Given the description of an element on the screen output the (x, y) to click on. 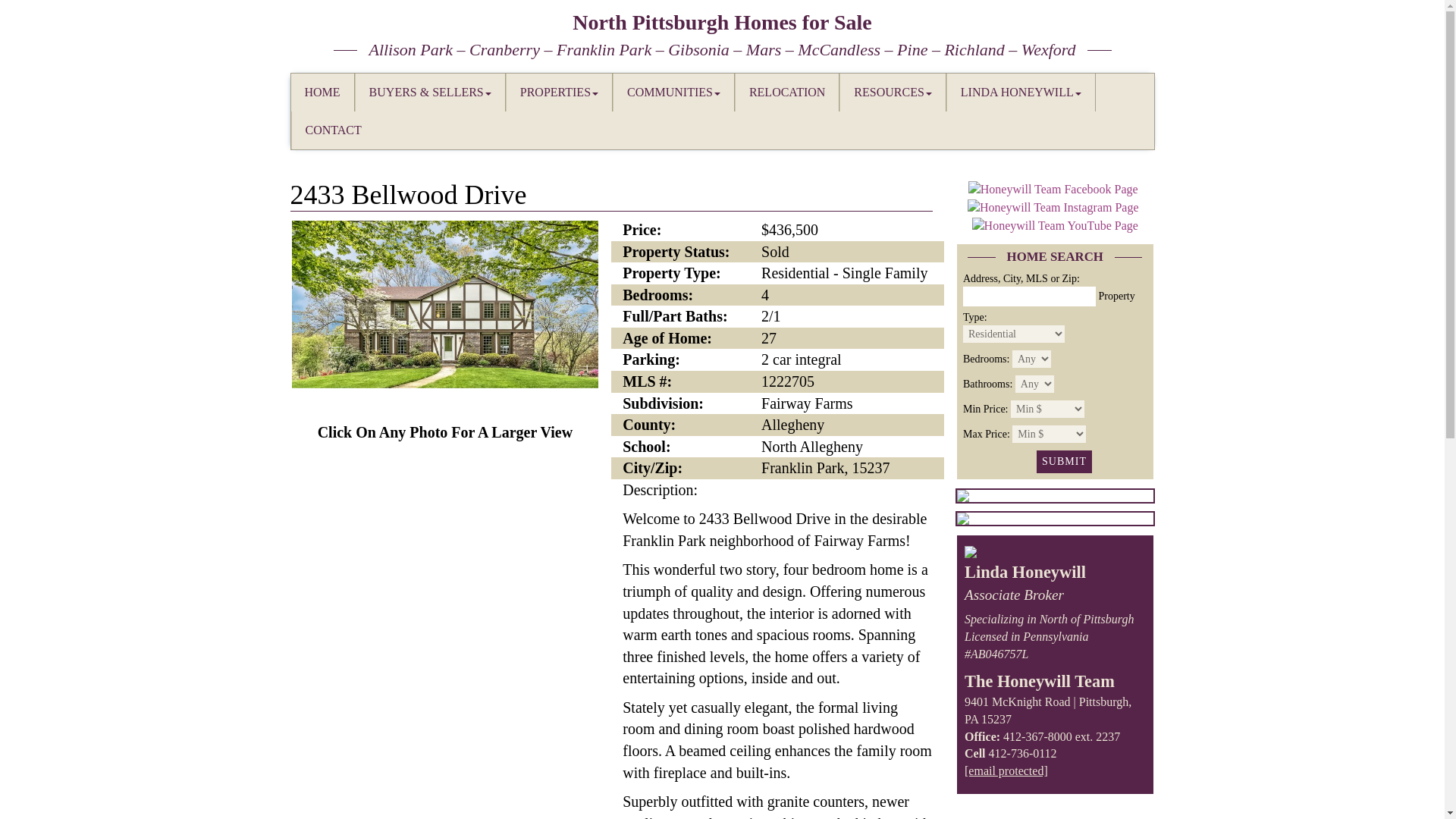
PROPERTIES (558, 92)
Submit (1064, 461)
RELOCATION (786, 92)
RESOURCES (892, 92)
HOME (322, 92)
CONTACT (332, 130)
LINDA HONEYWILL (1020, 92)
COMMUNITIES (672, 92)
